Given the description of an element on the screen output the (x, y) to click on. 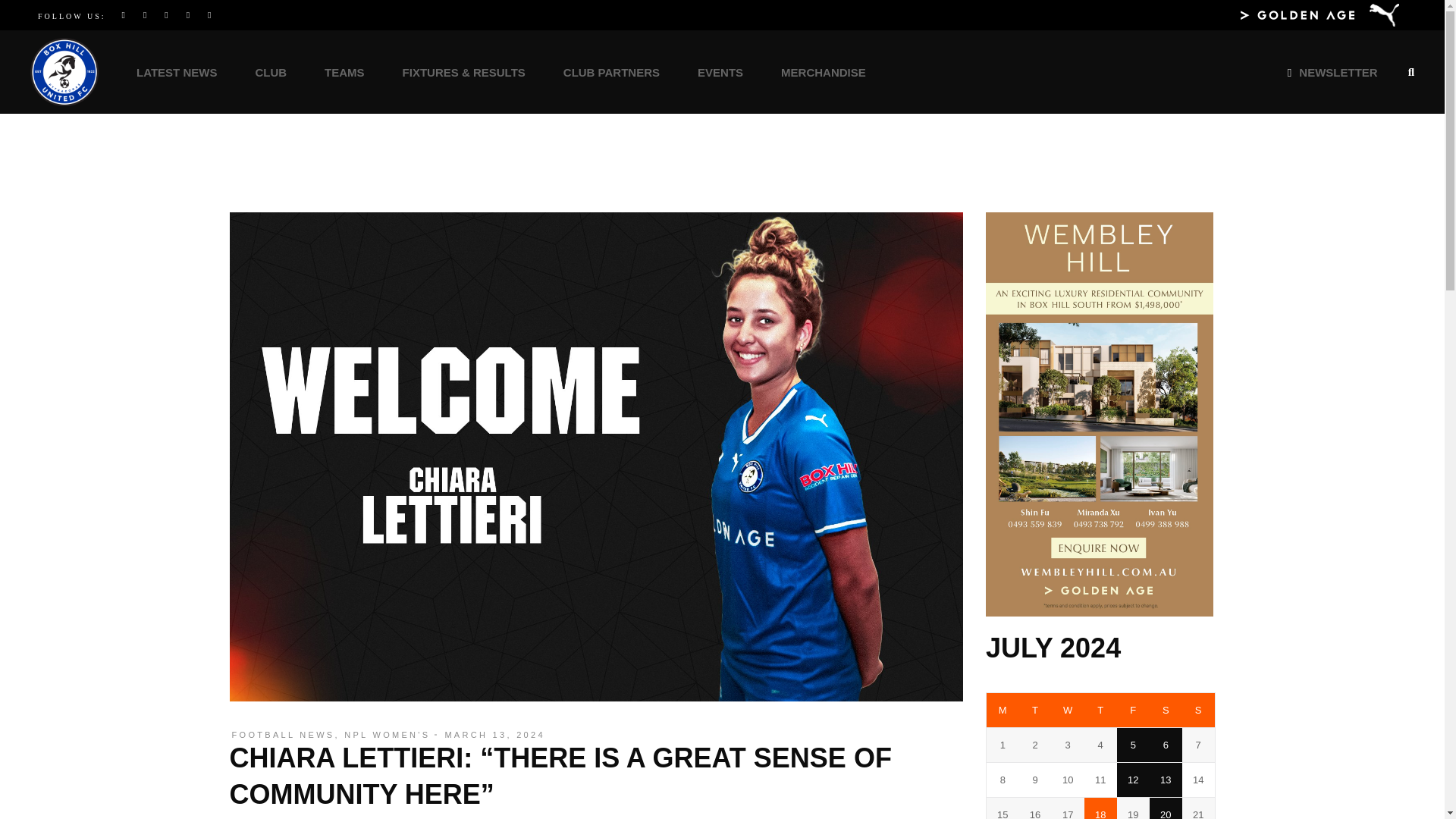
LATEST NEWS (176, 71)
